Given the description of an element on the screen output the (x, y) to click on. 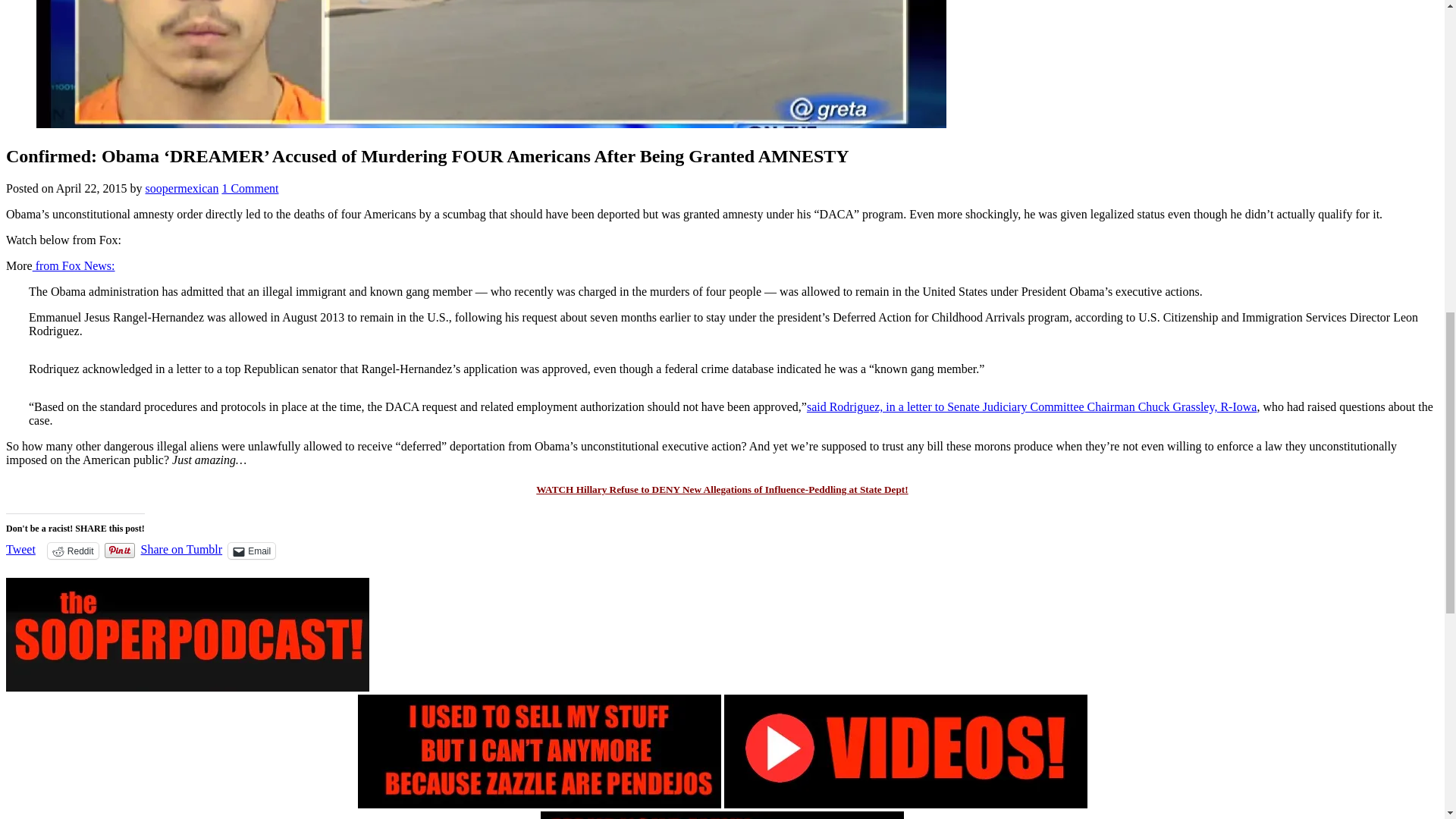
Tweet (19, 549)
Click to share on Reddit (73, 550)
soopermexican (182, 187)
from Fox News: (73, 265)
Share on Tumblr (181, 549)
Email (251, 550)
1 Comment (249, 187)
Reddit (73, 550)
